Given the description of an element on the screen output the (x, y) to click on. 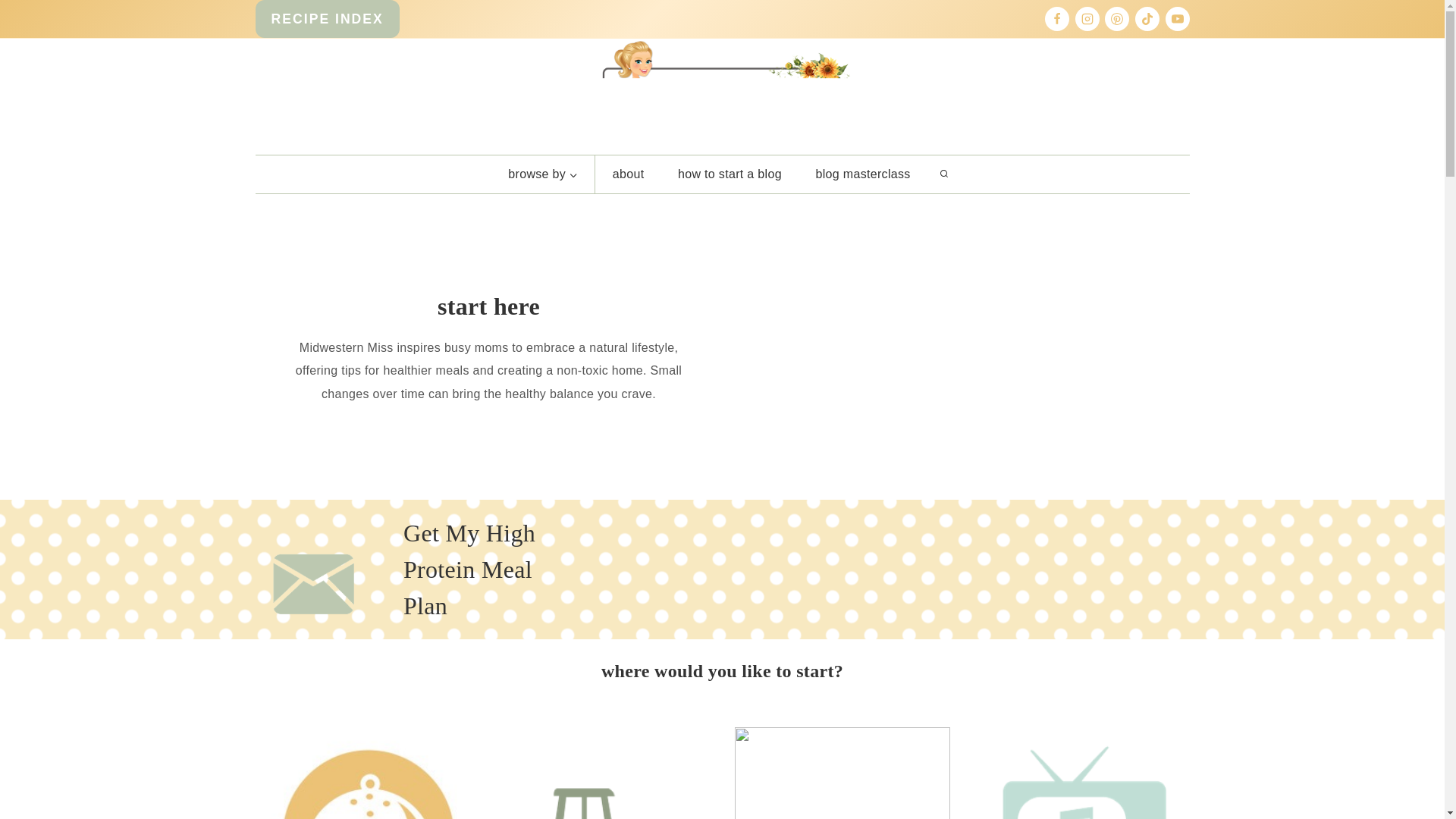
Entertain (1081, 773)
Farm Life (602, 773)
From Scratch Recipes (362, 773)
blog masterclass (862, 174)
how to start a blog (729, 174)
about (628, 174)
browse by (543, 174)
RECIPE INDEX (326, 18)
